Given the description of an element on the screen output the (x, y) to click on. 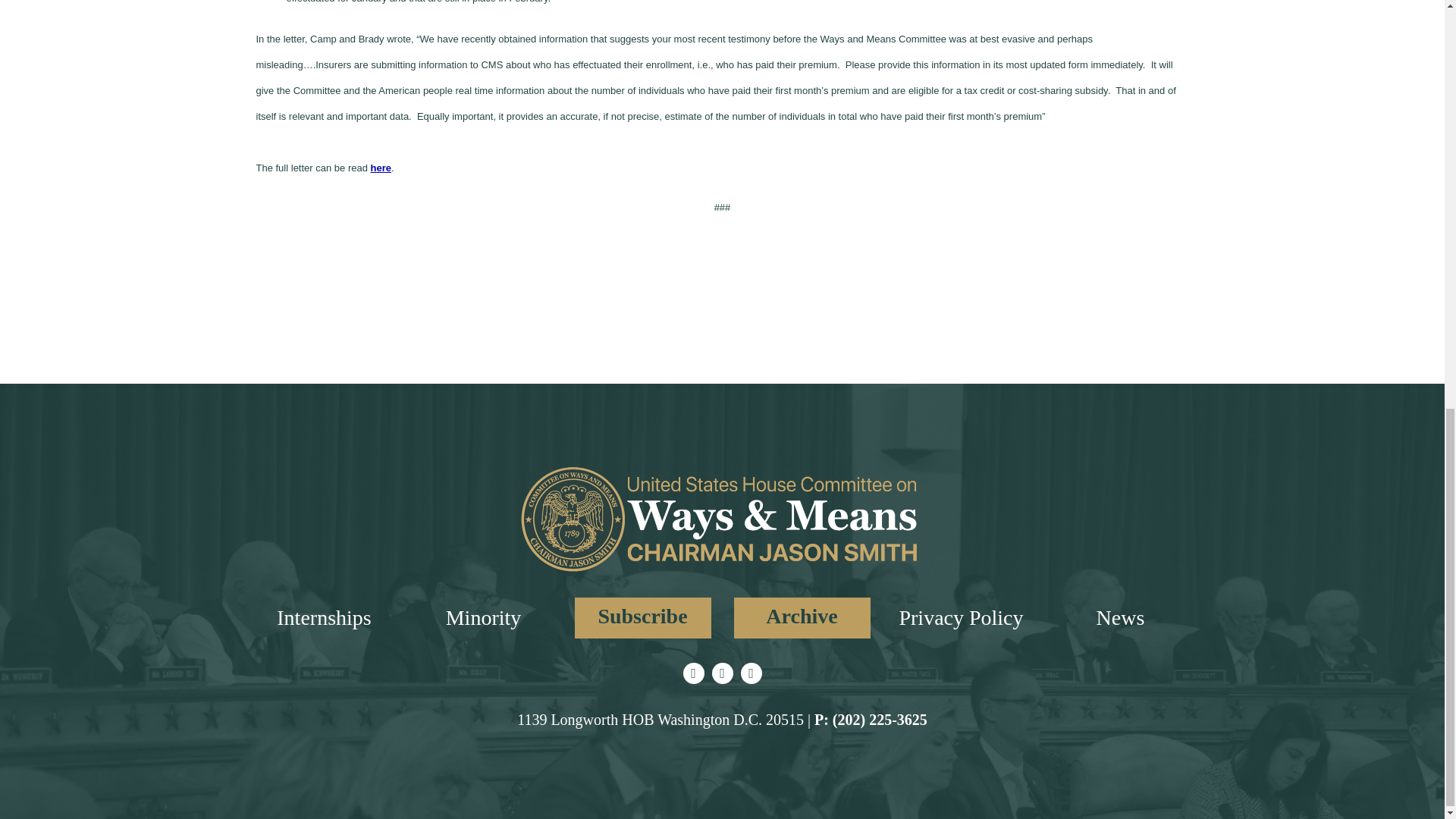
Archive (801, 617)
Subscribe (643, 617)
Youtube (750, 672)
Minority (483, 617)
News (1120, 617)
Twitter (692, 672)
Internships (323, 617)
Privacy Policy (960, 617)
here (381, 167)
Instagram (721, 672)
